Given the description of an element on the screen output the (x, y) to click on. 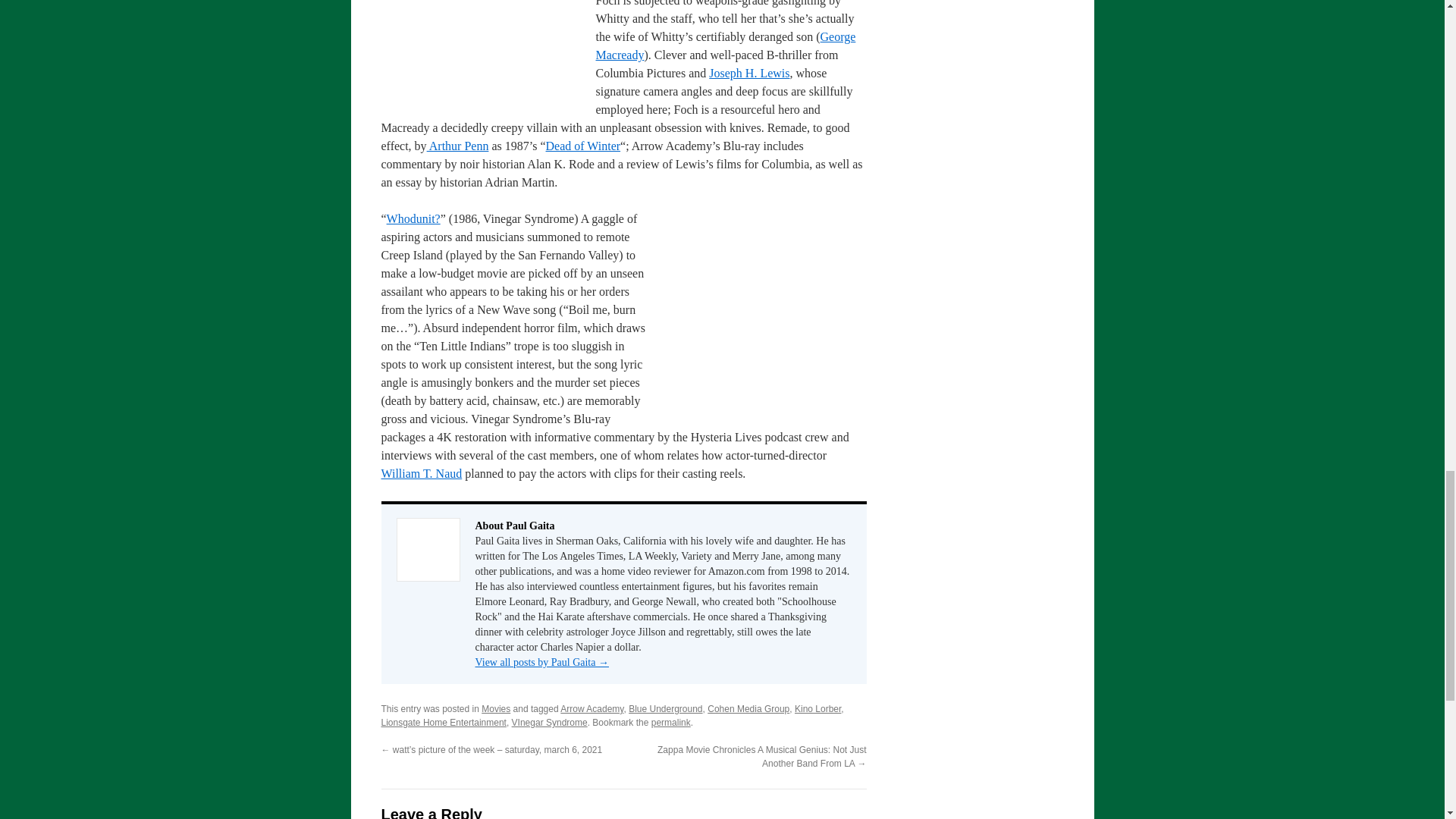
Permalink to Movies Till Dawn: Crime and Punishment, USA (670, 722)
